Given the description of an element on the screen output the (x, y) to click on. 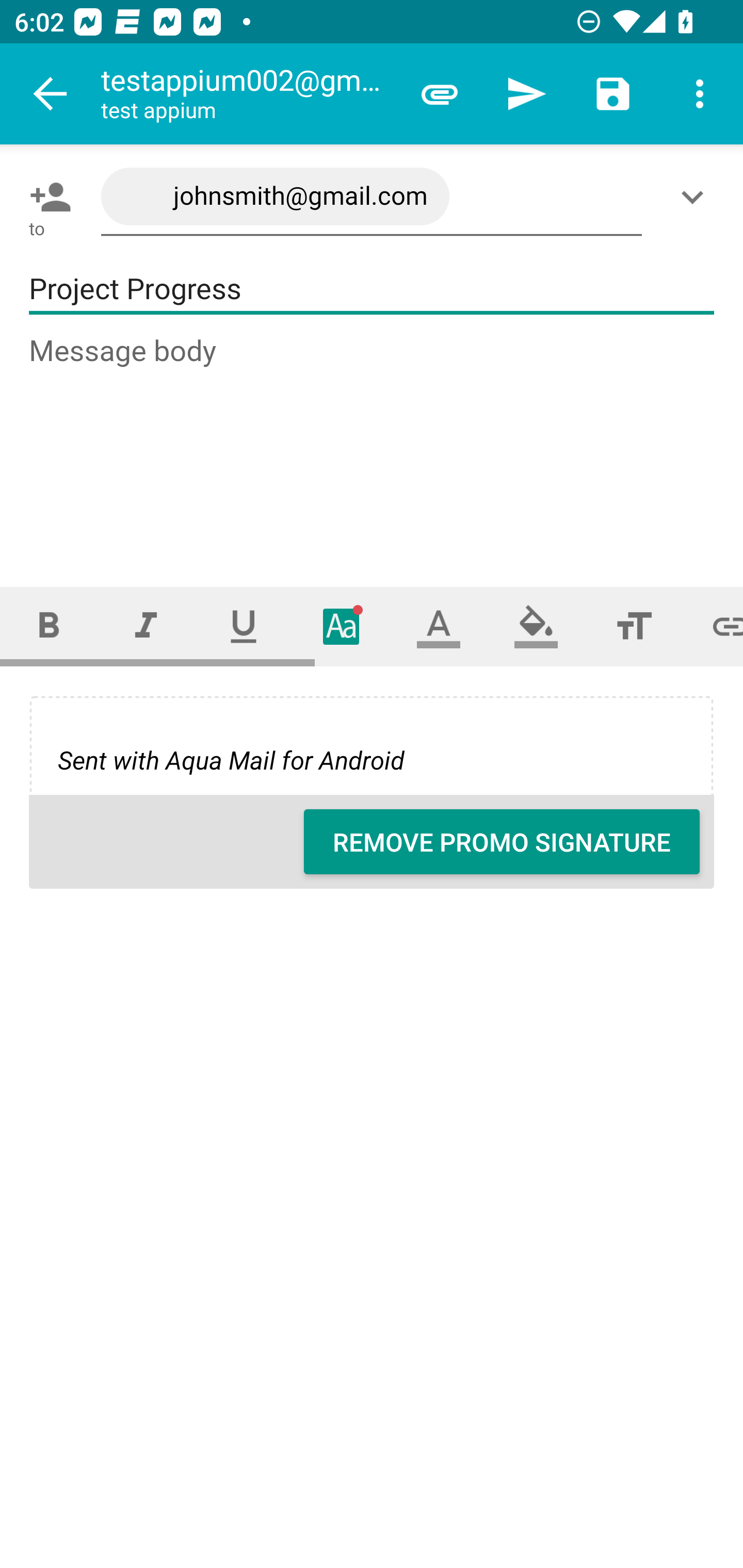
Navigate up (50, 93)
testappium002@gmail.com test appium (248, 93)
Attach (439, 93)
Send (525, 93)
Save (612, 93)
More options (699, 93)
johnsmith@gmail.com,  (371, 197)
Pick contact: To (46, 196)
Show/Add CC/BCC (696, 196)
Project Progress (371, 288)
Message body (372, 442)
Bold (48, 626)
Italic (145, 626)
Underline (243, 626)
Typeface (font) (341, 626)
Text color (438, 626)
Fill color (536, 626)
Font size (633, 626)
REMOVE PROMO SIGNATURE (501, 841)
